Given the description of an element on the screen output the (x, y) to click on. 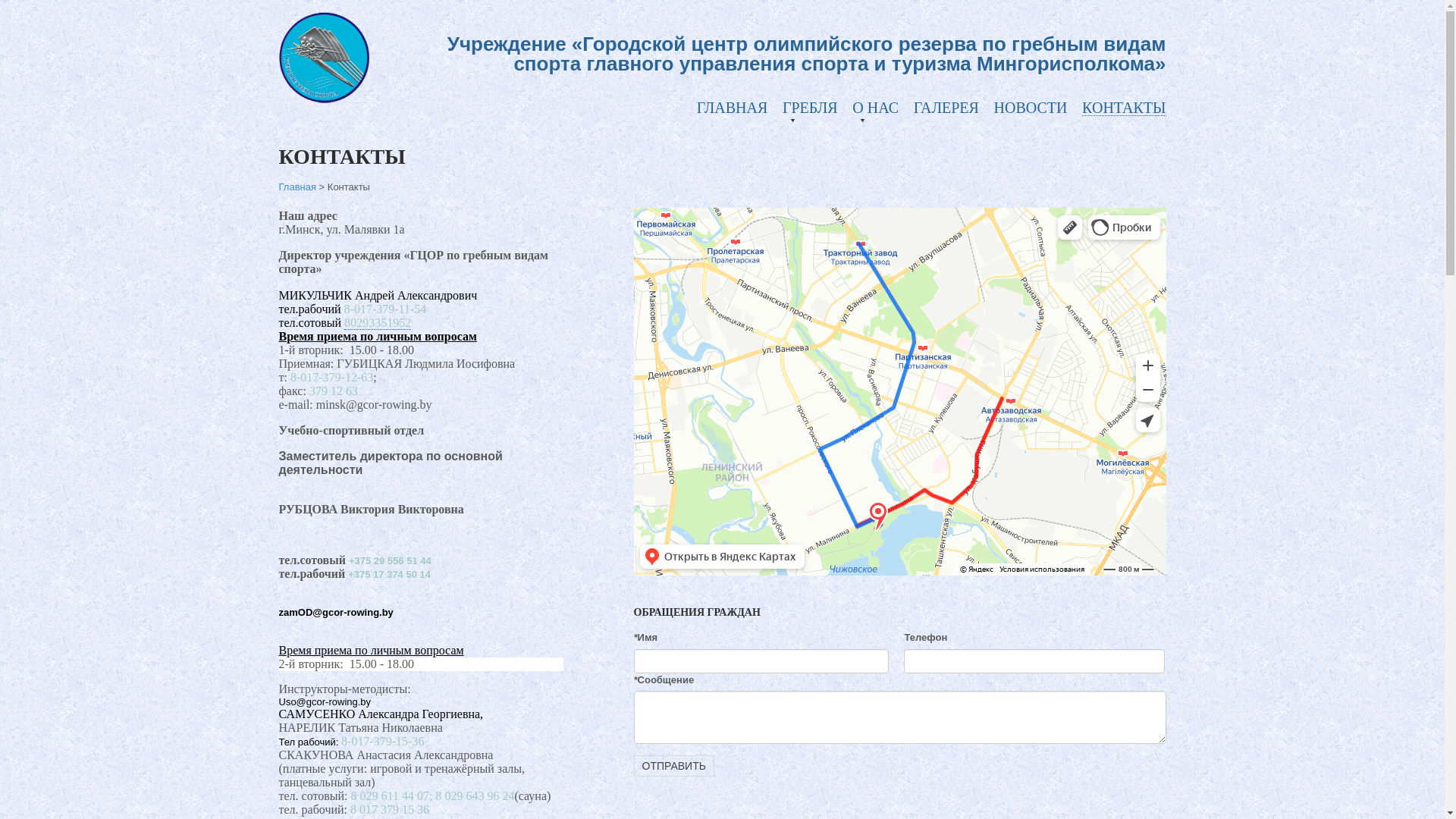
+375 17 374 50 14 Element type: text (389, 574)
8-017-379-11-54 Element type: text (385, 308)
8 017 379 15 36 Element type: text (389, 809)
029 643 96 24 Element type: text (479, 795)
80293351952 Element type: text (377, 322)
379 12 63 Element type: text (333, 390)
+375 29 556 51 44 Element type: text (389, 560)
8 029 611 44 07; 8 Element type: text (396, 795)
8-017-379-12-63 Element type: text (331, 376)
8-017-379-15-36 Element type: text (382, 740)
